Given the description of an element on the screen output the (x, y) to click on. 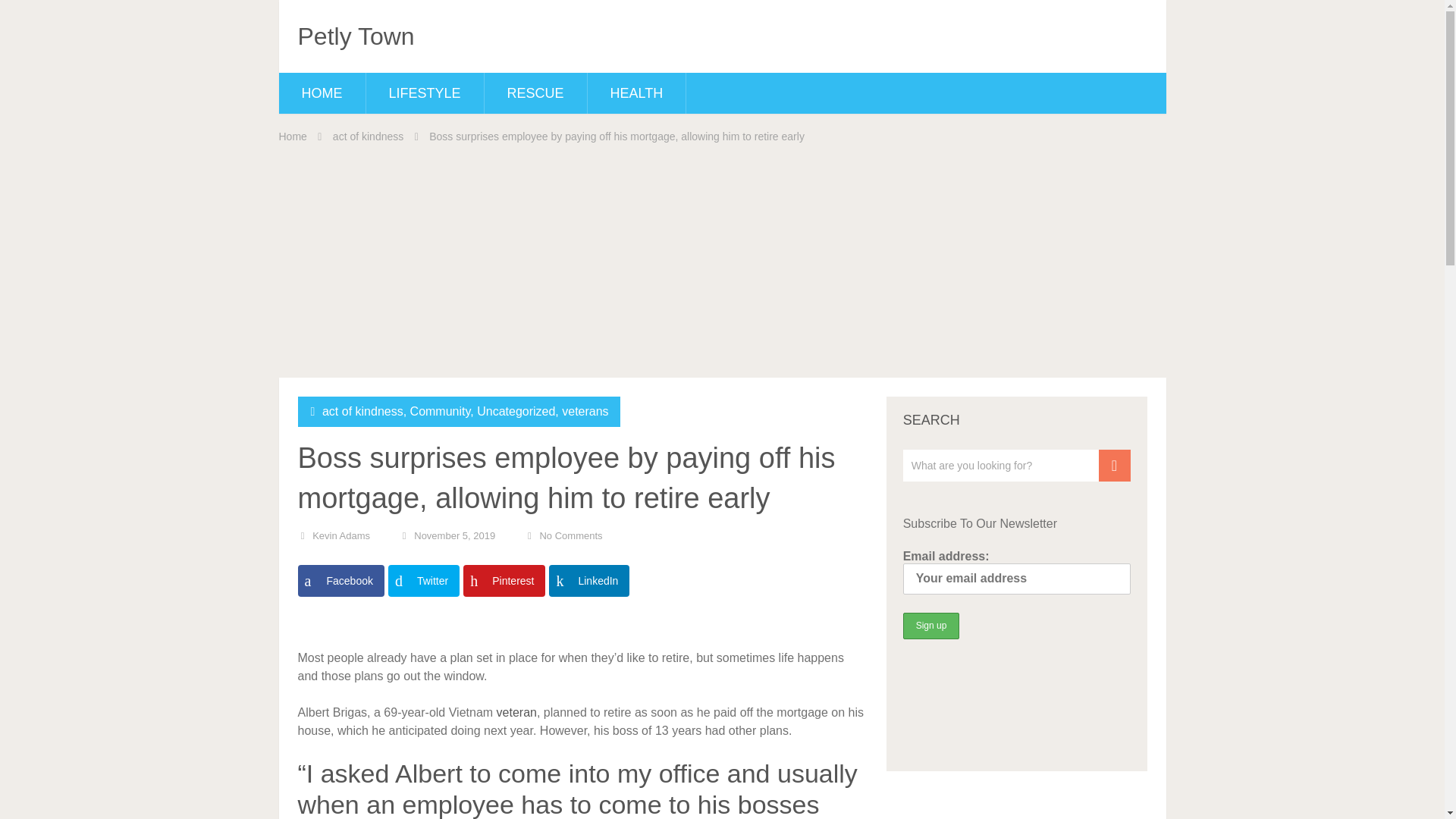
HOME (322, 92)
Share on Facebook (340, 581)
What are you looking for? (1016, 465)
Pinterest (503, 581)
Petly Town (355, 36)
RESCUE (535, 92)
Posts by Kevin Adams (341, 535)
Share on Twitter (424, 581)
veteran (516, 712)
act of kindness (368, 136)
LIFESTYLE (424, 92)
Share on LinkedIn (588, 581)
LinkedIn (588, 581)
Community (440, 410)
act of kindness (362, 410)
